Given the description of an element on the screen output the (x, y) to click on. 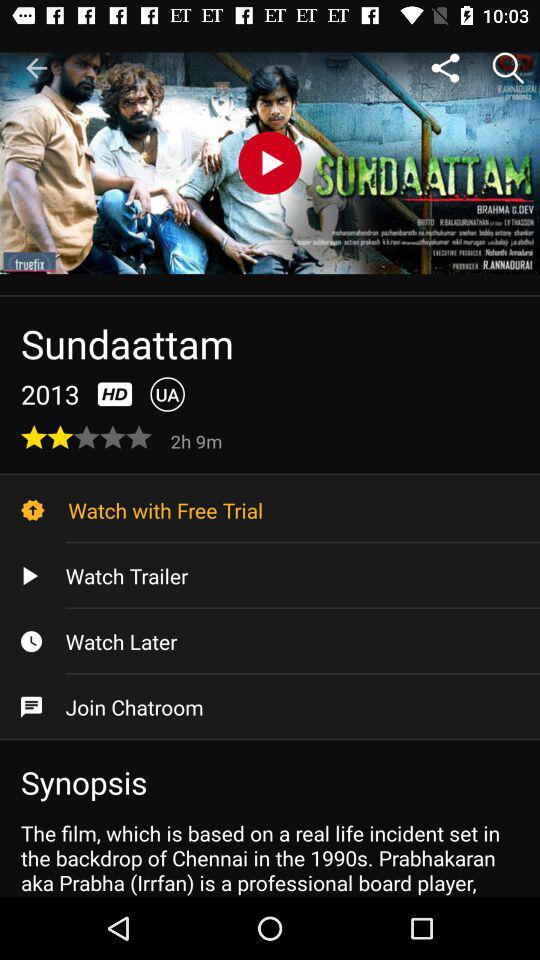
choose item above the watch with free (198, 440)
